Given the description of an element on the screen output the (x, y) to click on. 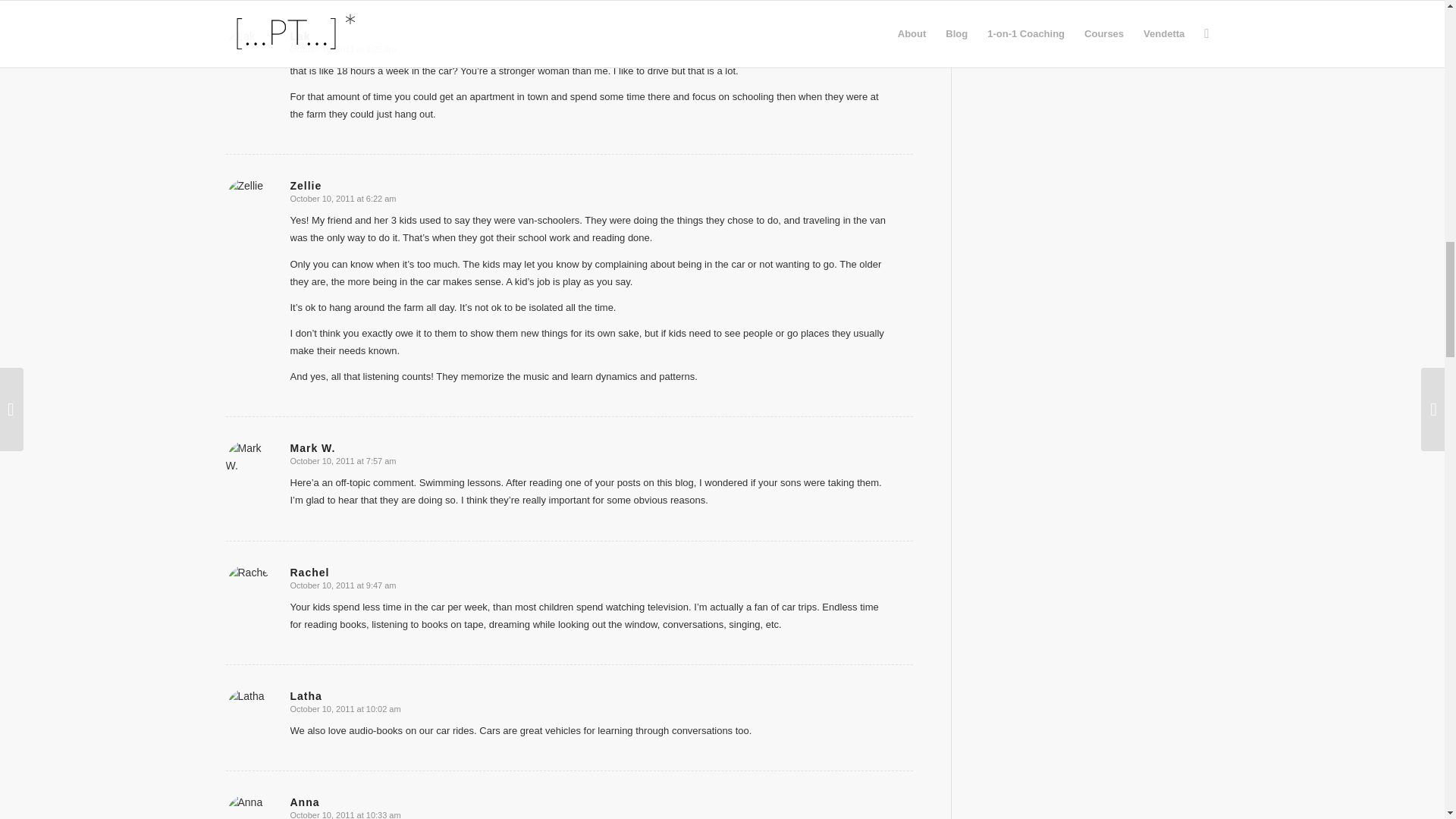
October 10, 2011 at 10:02 am (344, 708)
October 10, 2011 at 7:57 am (342, 461)
October 10, 2011 at 9:47 am (342, 584)
October 10, 2011 at 6:22 am (342, 198)
October 10, 2011 at 10:33 am (344, 814)
October 10, 2011 at 1:25 am (342, 49)
